Given the description of an element on the screen output the (x, y) to click on. 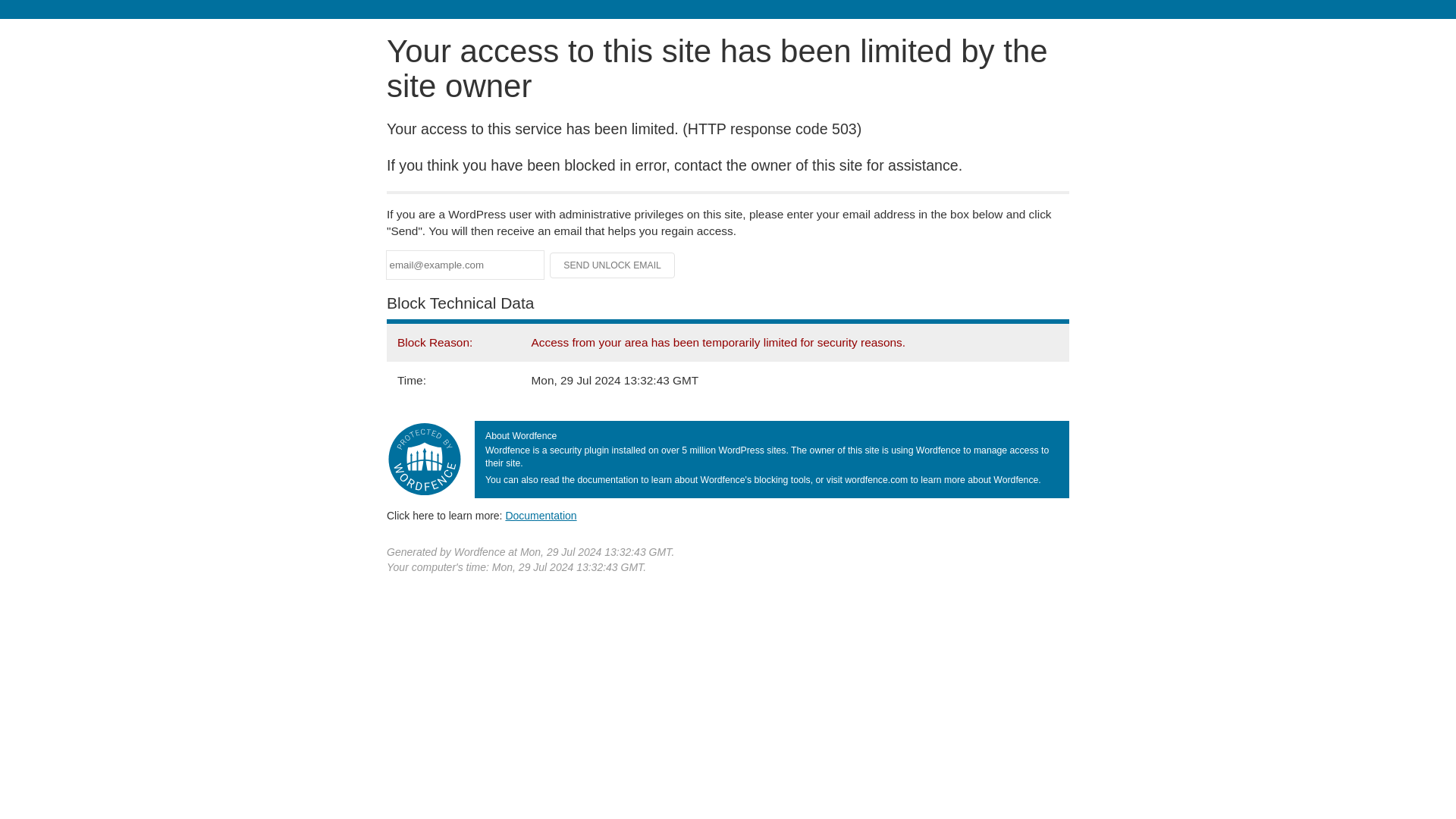
Documentation (540, 515)
Send Unlock Email (612, 265)
Send Unlock Email (612, 265)
